Given the description of an element on the screen output the (x, y) to click on. 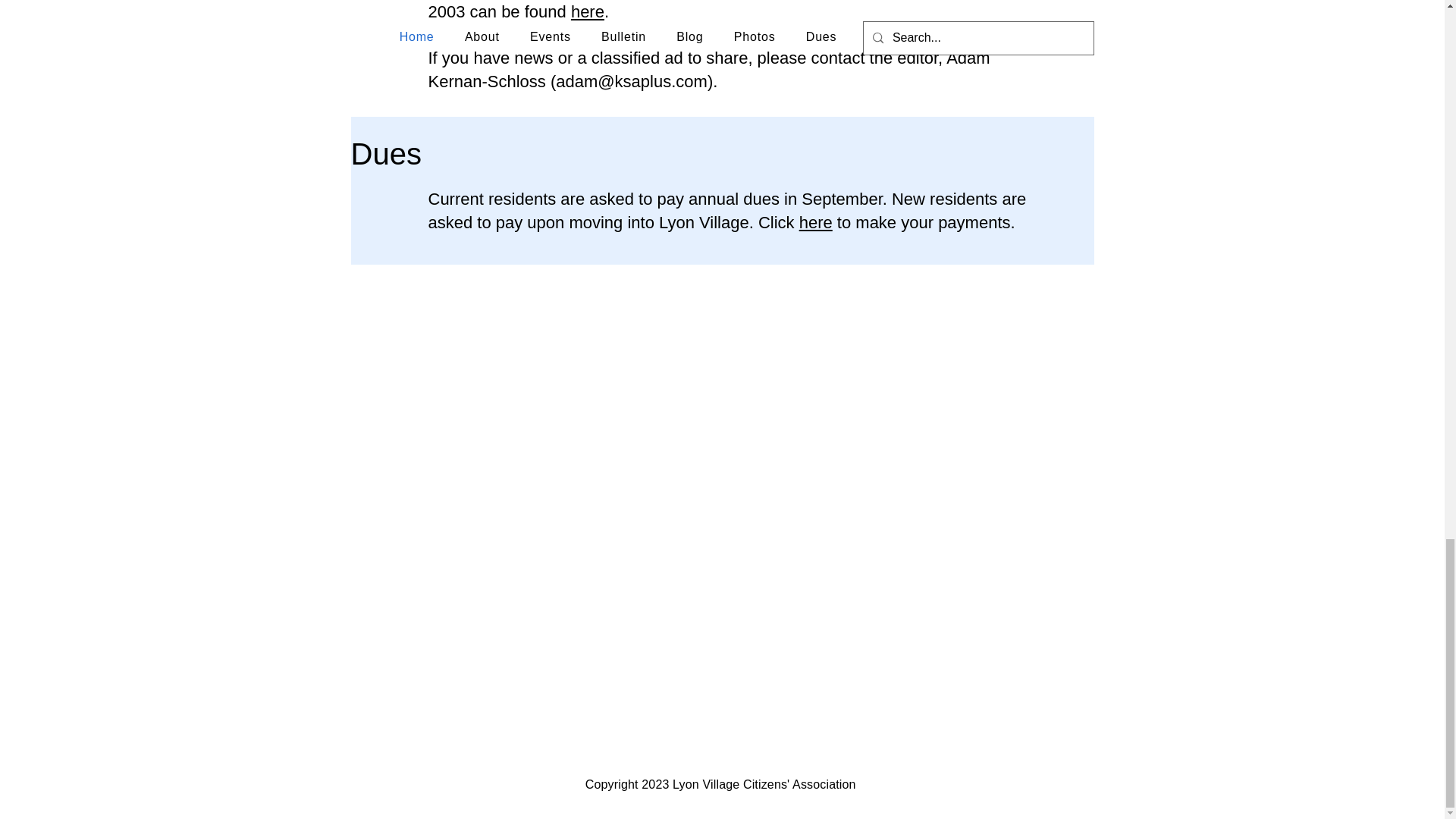
here (815, 221)
Dues (385, 153)
here (587, 11)
